Given the description of an element on the screen output the (x, y) to click on. 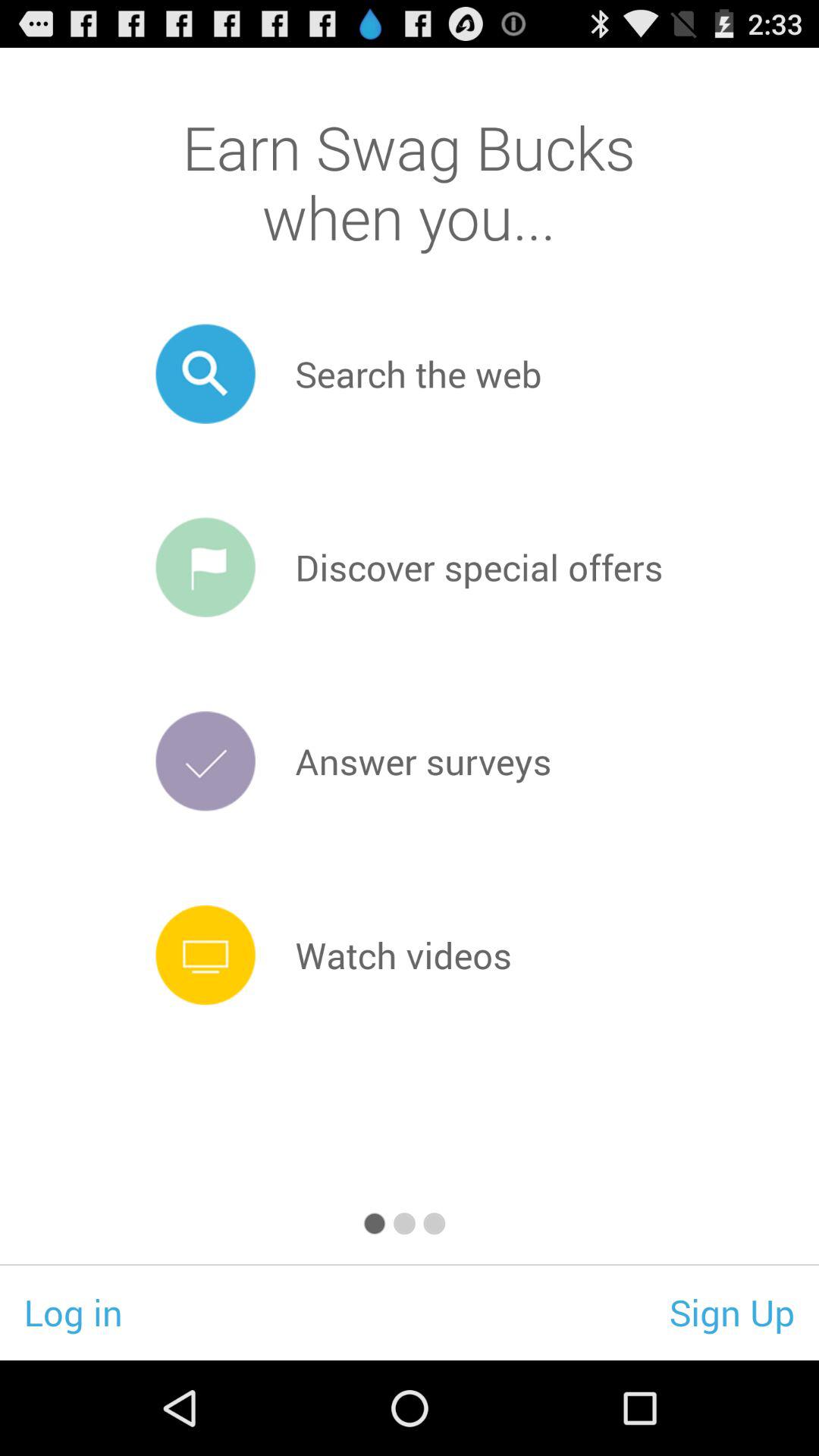
launch the sign up (732, 1312)
